Given the description of an element on the screen output the (x, y) to click on. 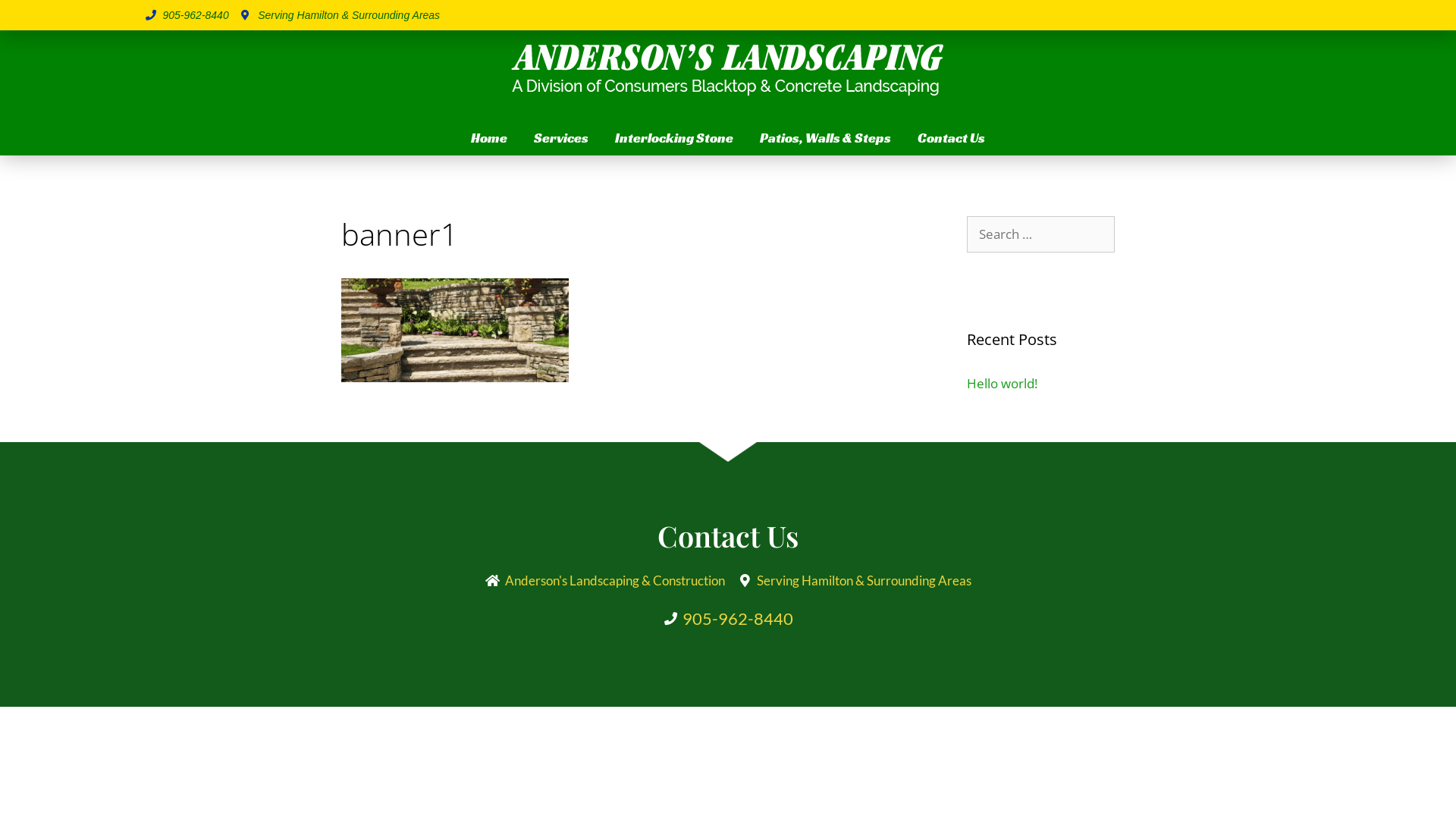
Hello world! Element type: text (1001, 383)
905-962-8440 Element type: text (727, 617)
905-962-8440 Element type: text (187, 15)
Home Element type: text (488, 137)
Interlocking Stone Element type: text (674, 137)
Search for: Element type: hover (1040, 234)
Search Element type: text (36, 18)
Contact Us Element type: text (951, 137)
Services Element type: text (560, 137)
Patios, Walls & Steps Element type: text (825, 137)
